Given the description of an element on the screen output the (x, y) to click on. 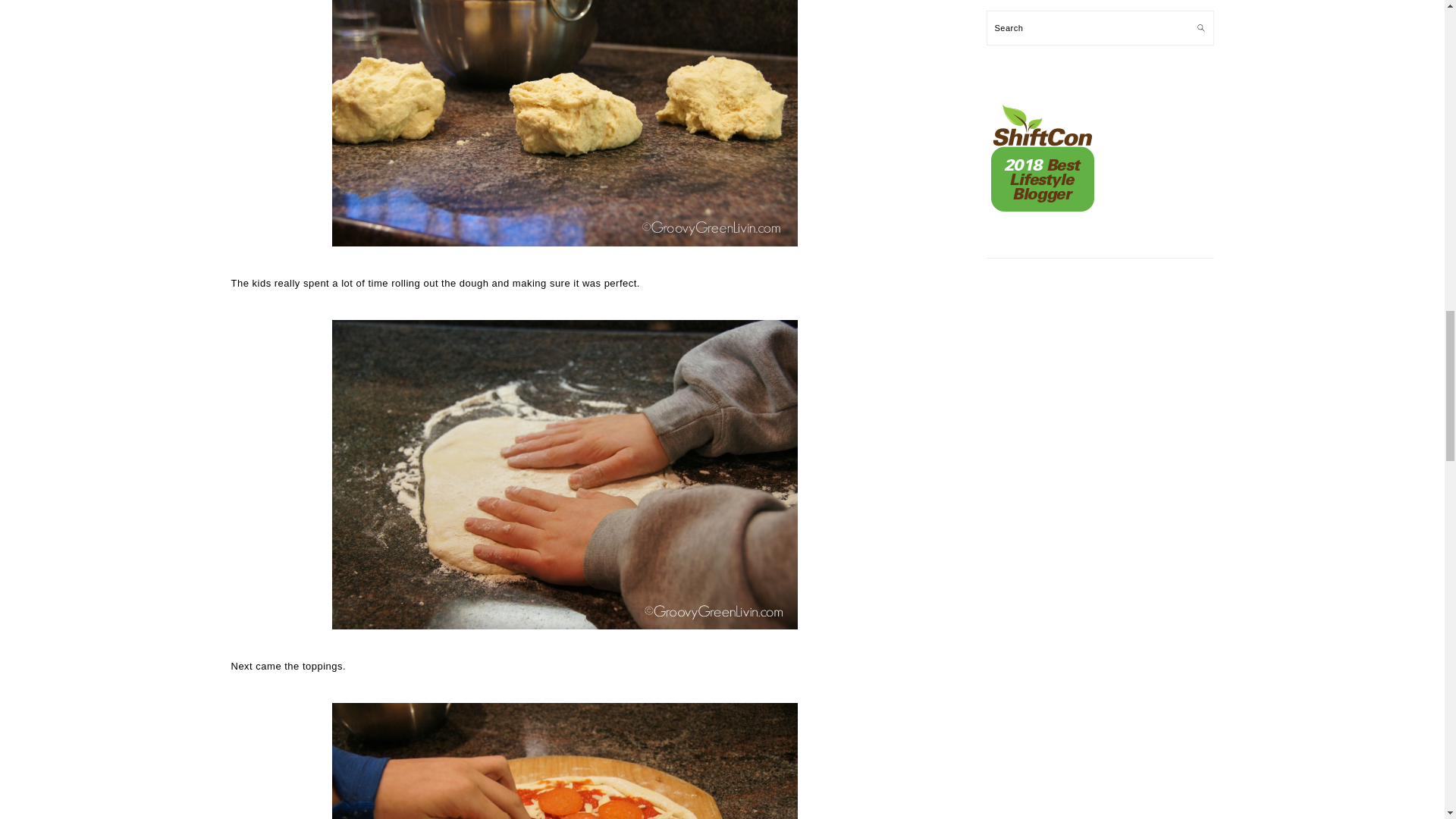
Groovy Green Livin Applegate (564, 123)
Groovy Green Livin Applegate (564, 760)
